Given the description of an element on the screen output the (x, y) to click on. 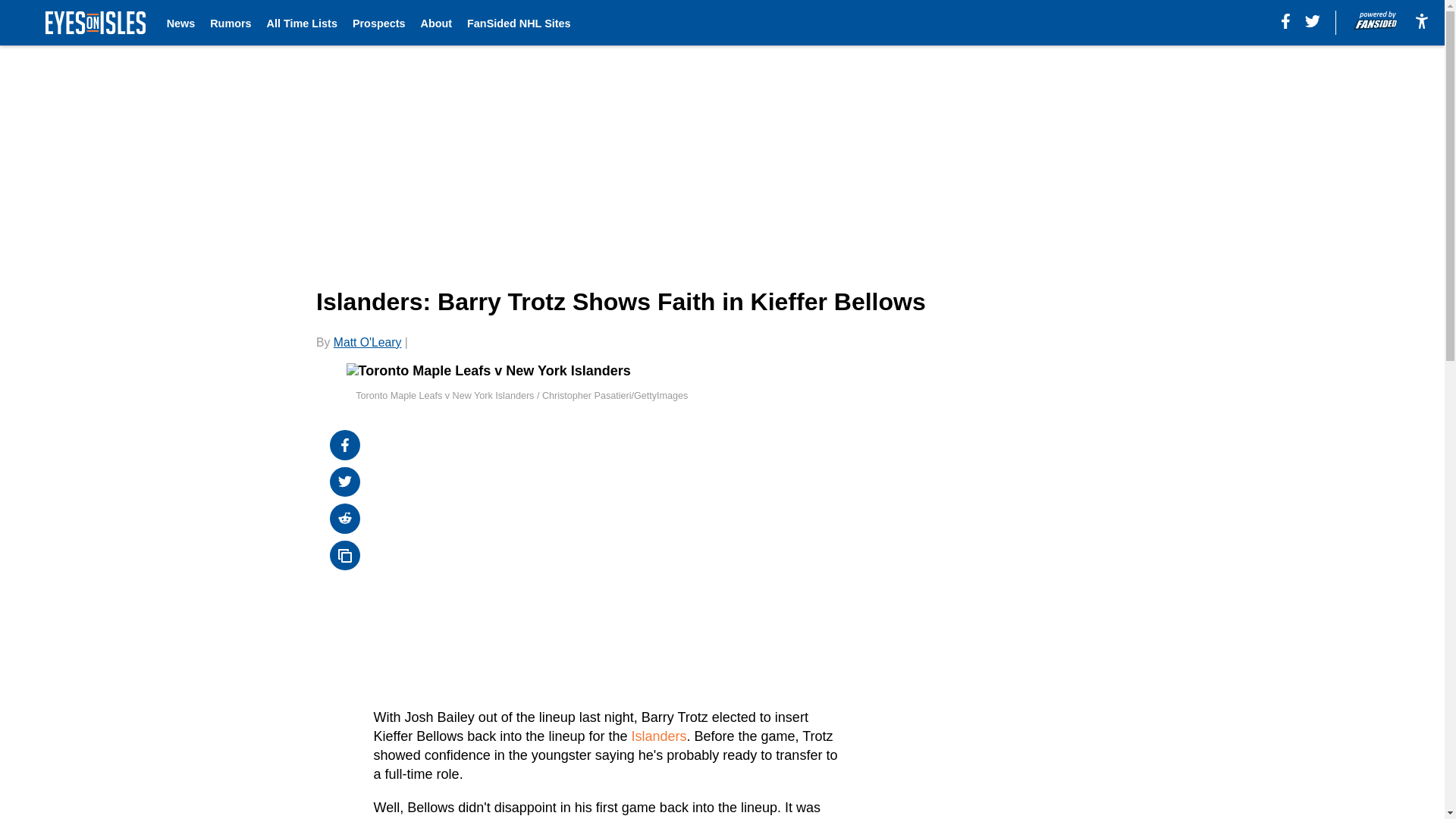
Islanders (657, 735)
News (181, 23)
Prospects (379, 23)
Matt O'Leary (367, 341)
Rumors (229, 23)
FanSided NHL Sites (518, 23)
All Time Lists (301, 23)
About (435, 23)
